Given the description of an element on the screen output the (x, y) to click on. 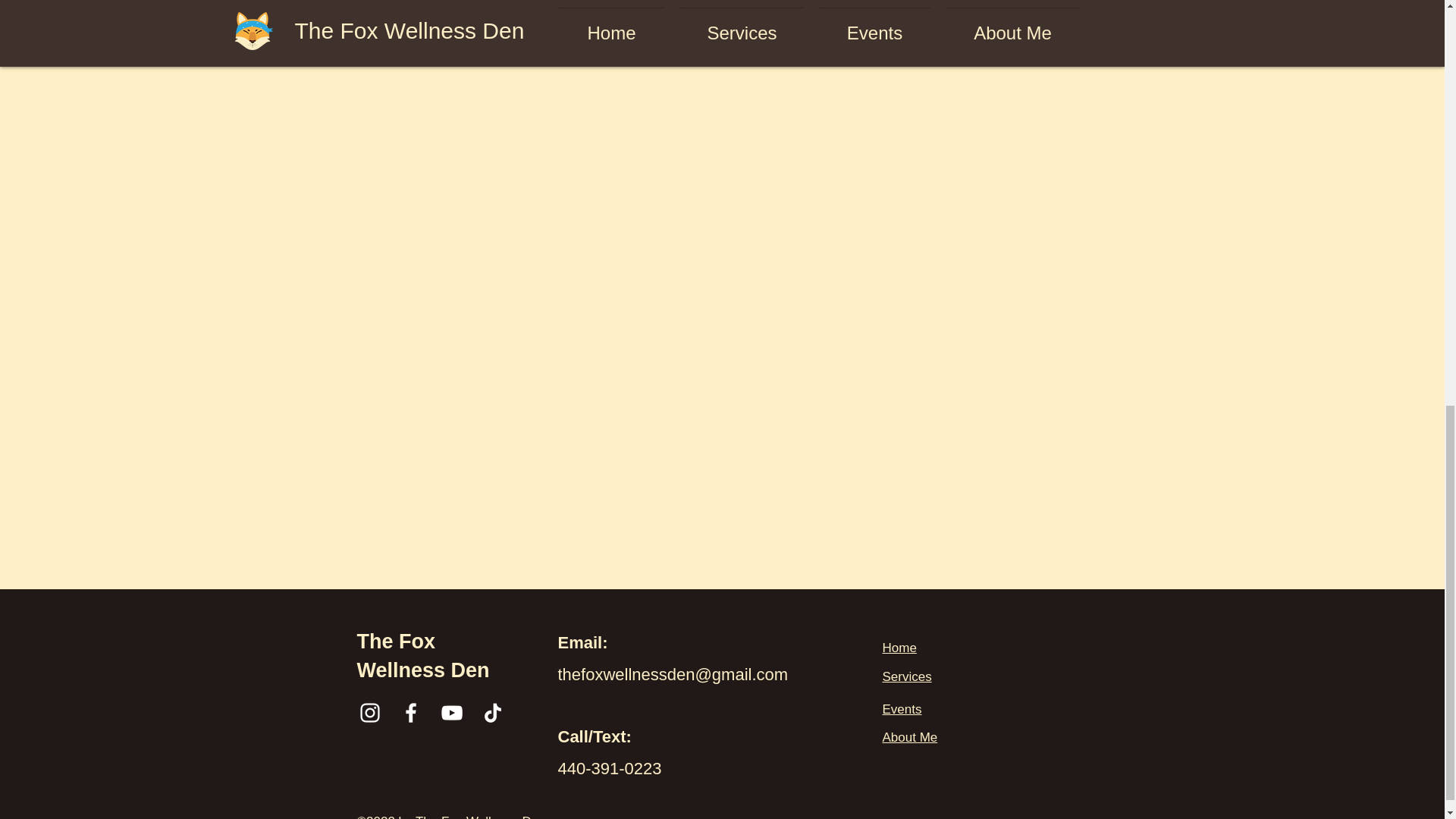
Events (901, 708)
Services (906, 676)
Home (899, 647)
About Me (909, 737)
